Given the description of an element on the screen output the (x, y) to click on. 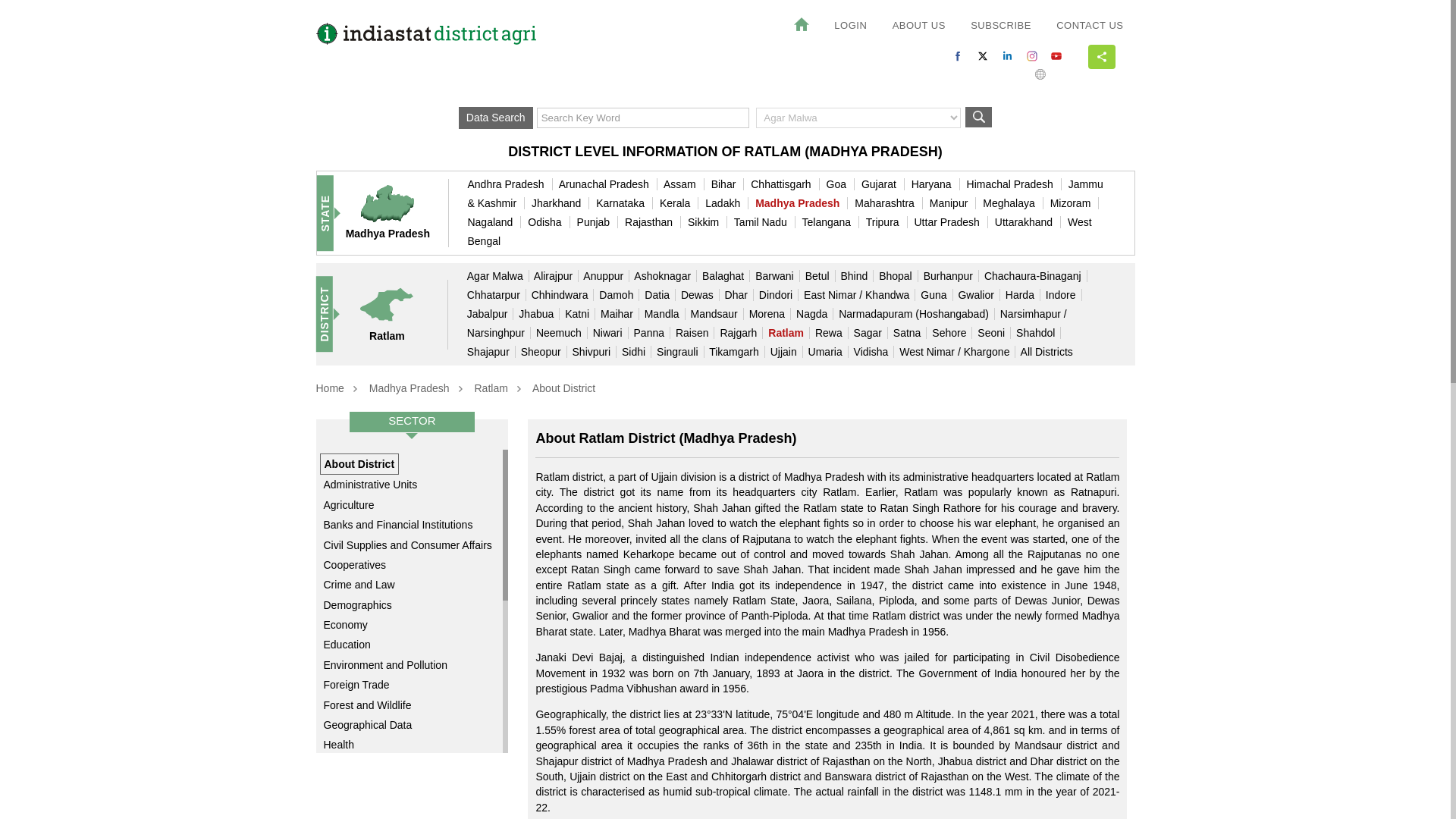
Chhattisgarh (784, 184)
Twitter (982, 55)
Manipur (953, 203)
LOGIN (849, 25)
Himachal Pradesh (1013, 184)
Mizoram (1074, 203)
Bihar (727, 184)
Linkedin (1006, 55)
Nagaland (494, 222)
Goa (840, 184)
Search Key Word (643, 117)
SUBSCRIBE (1000, 25)
Kerala (678, 203)
Gujarat (882, 184)
Arunachal Pradesh (608, 184)
